Given the description of an element on the screen output the (x, y) to click on. 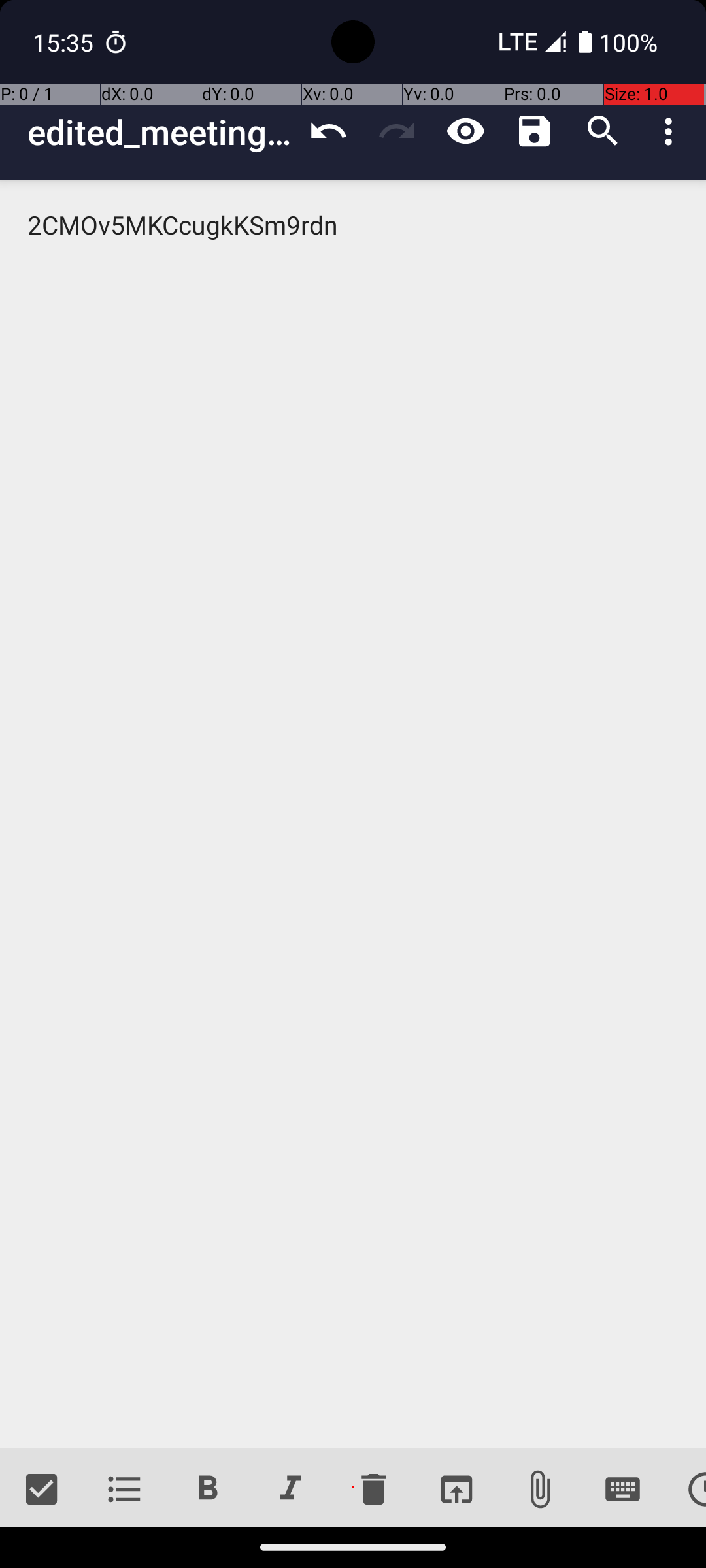
edited_meeting_notes_project_team Element type: android.widget.TextView (160, 131)
2CMOv5MKCcugkKSm9rdn Element type: android.widget.EditText (353, 813)
